Given the description of an element on the screen output the (x, y) to click on. 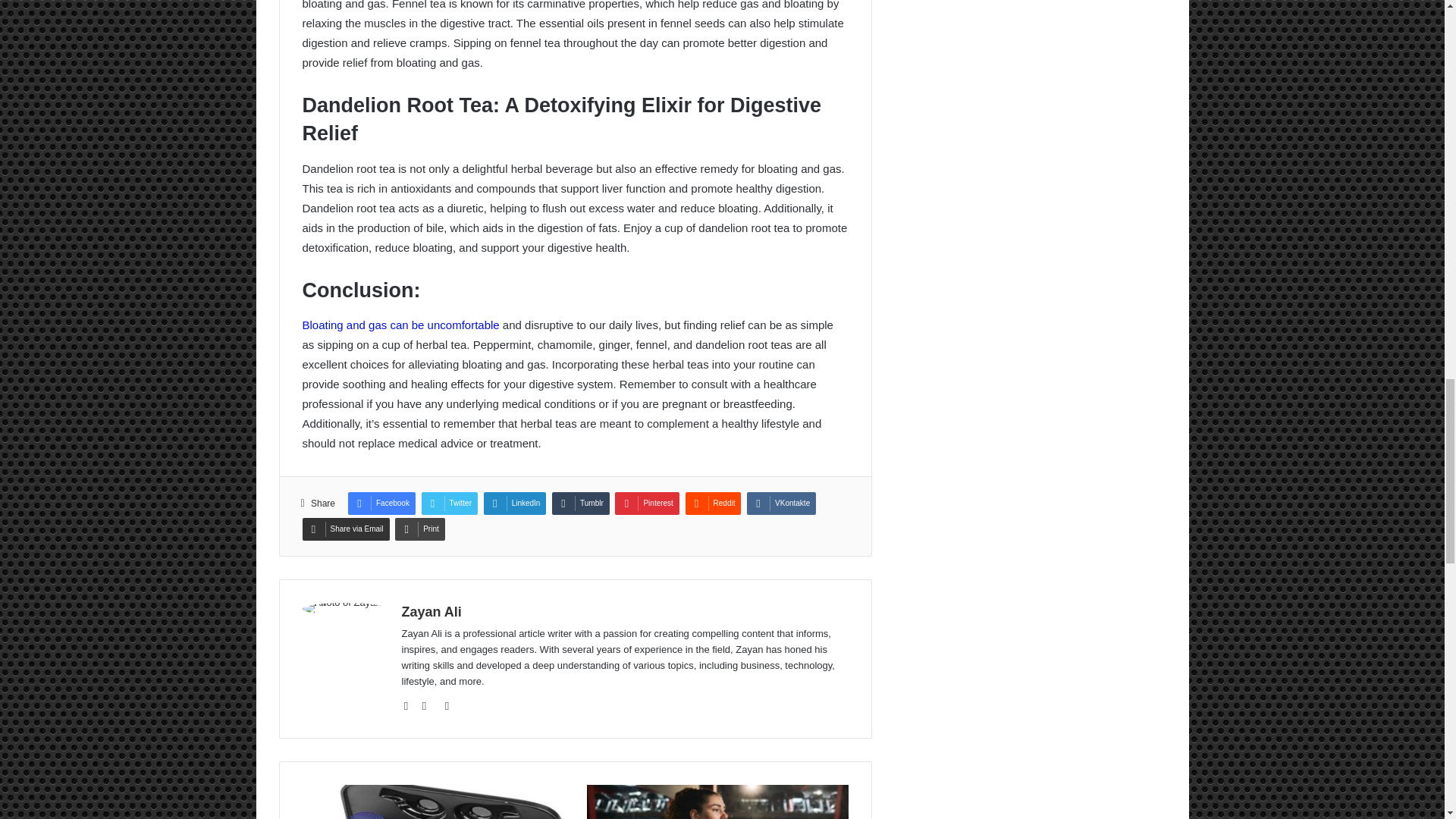
Bloating and gas can be uncomfortable (400, 324)
